Given the description of an element on the screen output the (x, y) to click on. 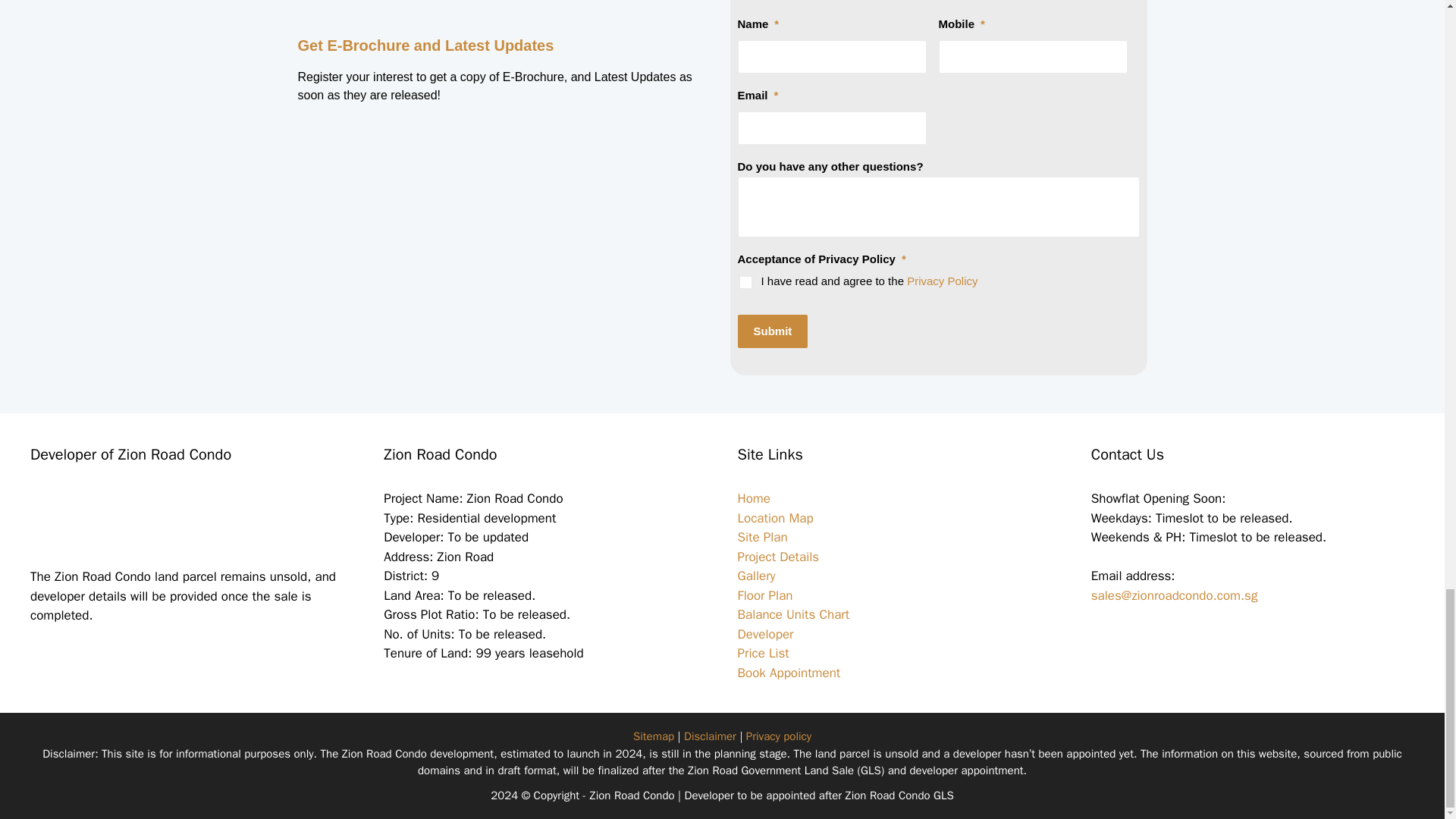
Balance Units Chart (792, 614)
Submit (772, 331)
Book Appointment (788, 672)
Location Map (774, 518)
Privacy Policy (941, 280)
Home (753, 498)
Project Details (777, 556)
Price List (762, 652)
Gallery (755, 575)
Submit (772, 331)
